Given the description of an element on the screen output the (x, y) to click on. 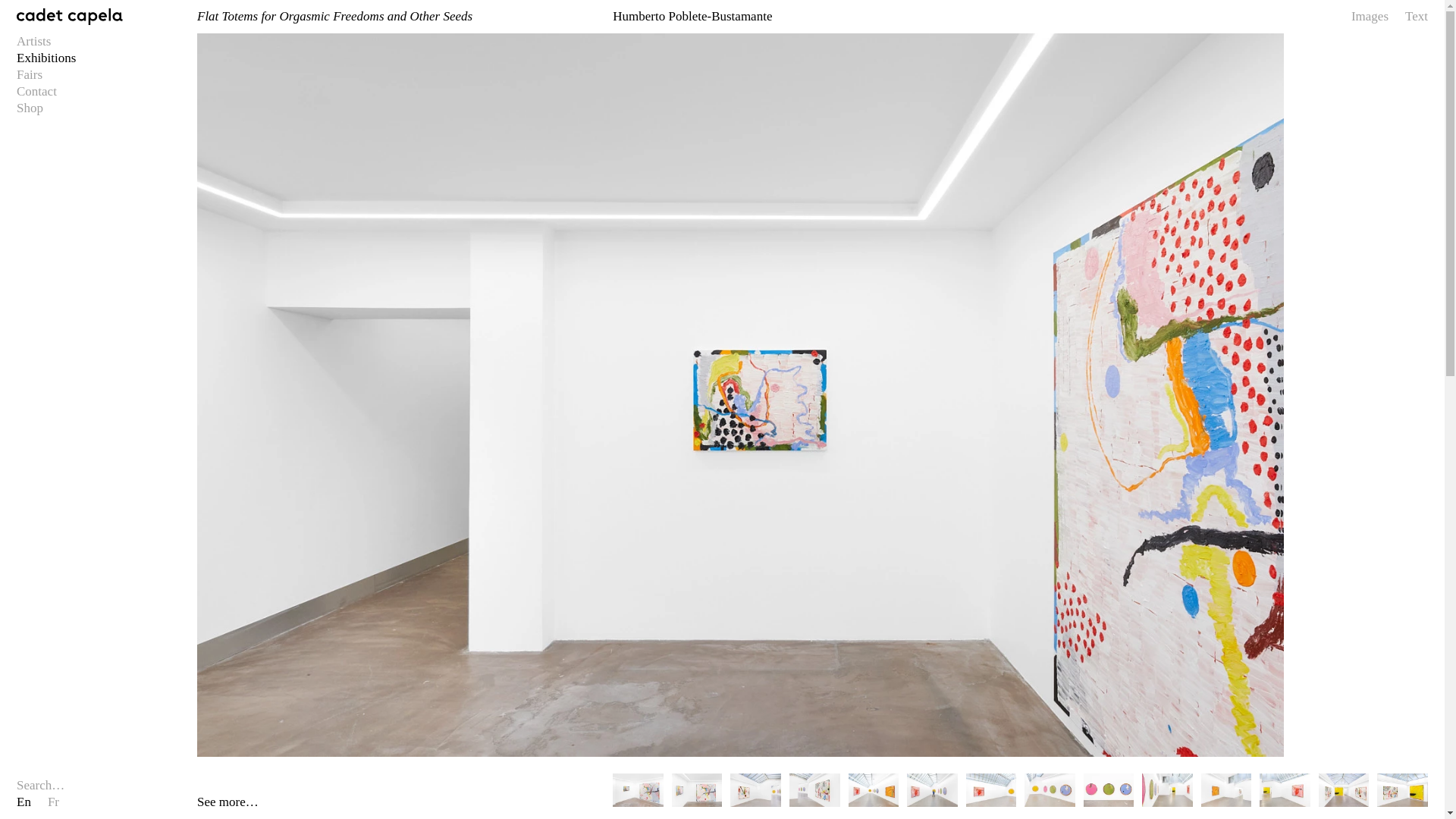
Humberto Poblete-Bustamante (691, 16)
Text (1416, 16)
Shop (29, 108)
Images (1370, 16)
Contact (36, 91)
Fairs (29, 74)
Exhibitions (45, 57)
Artists (33, 41)
